Given the description of an element on the screen output the (x, y) to click on. 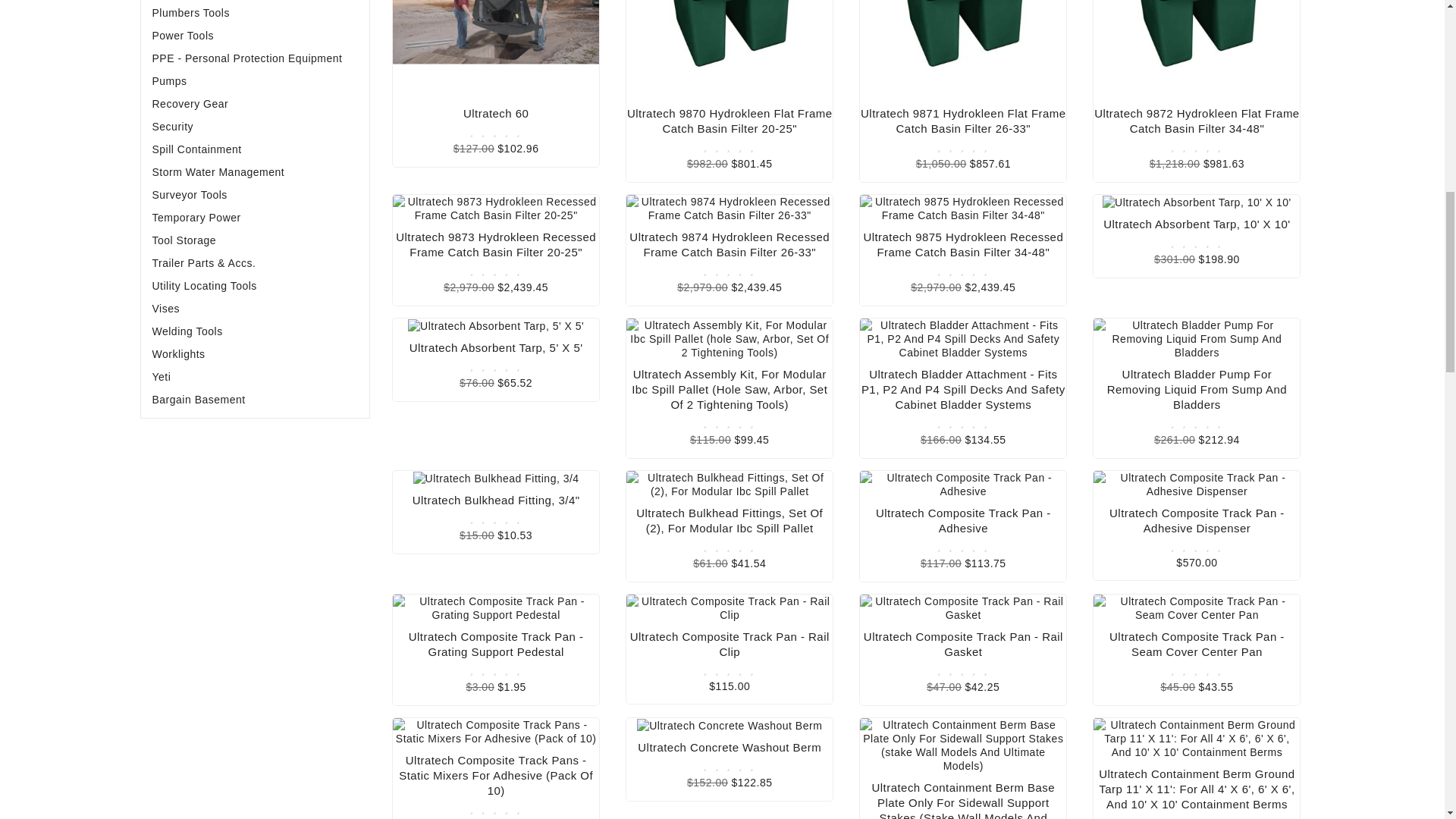
Add to Cart (1196, 63)
Add to Cart (496, 63)
Add to Cart (496, 187)
Add to Cart (729, 63)
Ultratech 60 (495, 49)
